Given the description of an element on the screen output the (x, y) to click on. 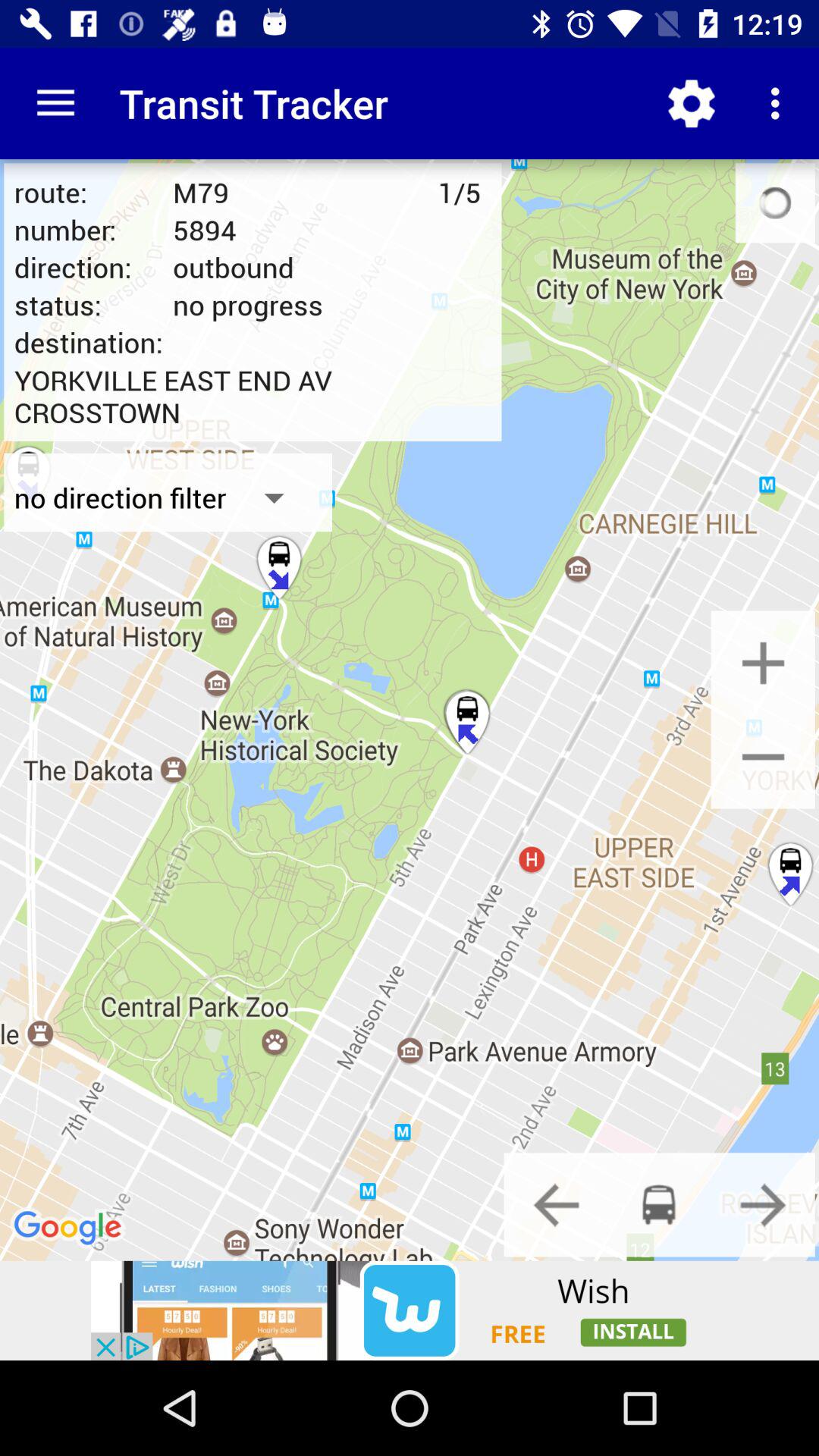
to find bus travel options (659, 1204)
